Given the description of an element on the screen output the (x, y) to click on. 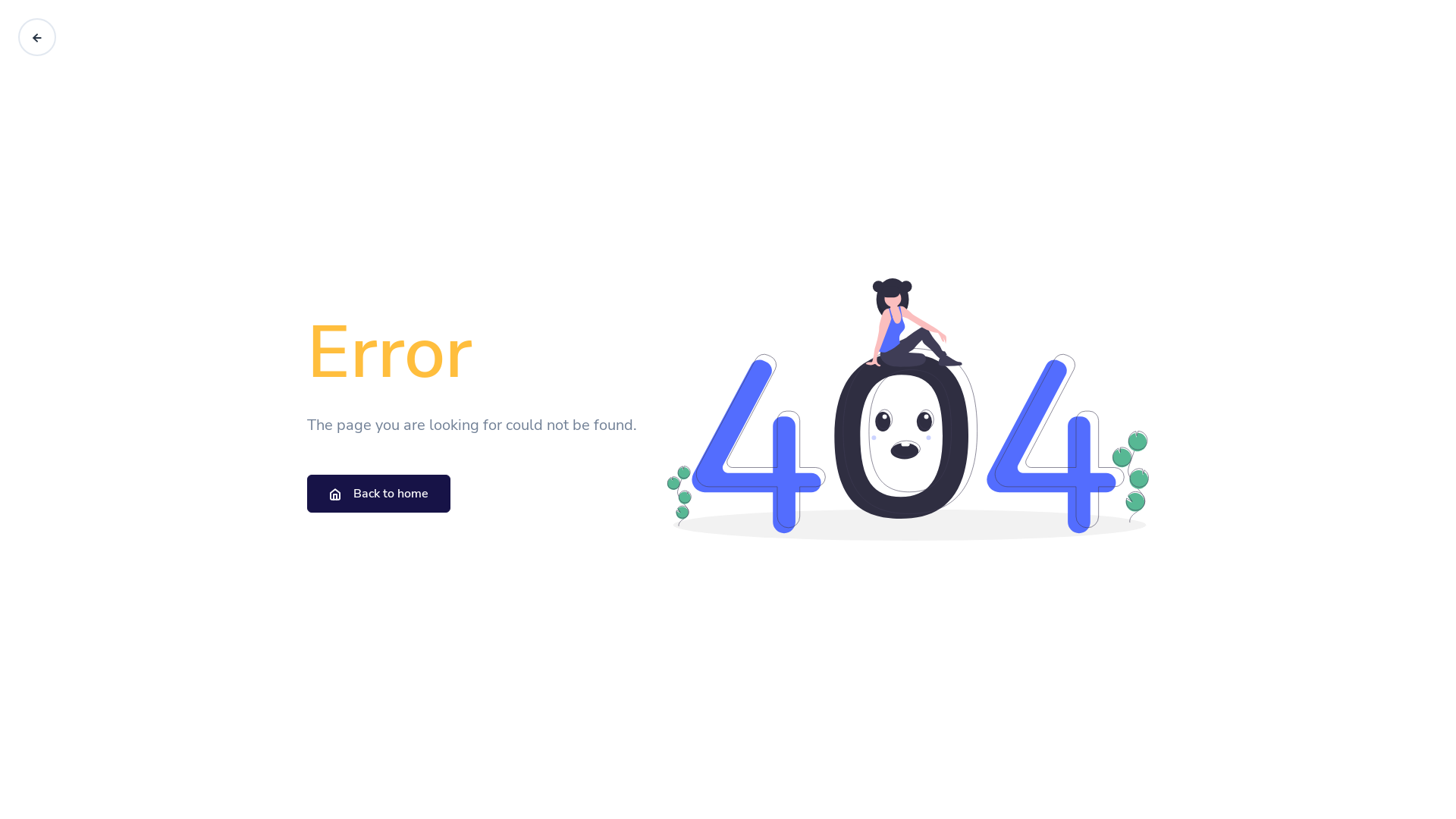
Back to home Element type: text (378, 493)
Go back Element type: hover (37, 37)
